Given the description of an element on the screen output the (x, y) to click on. 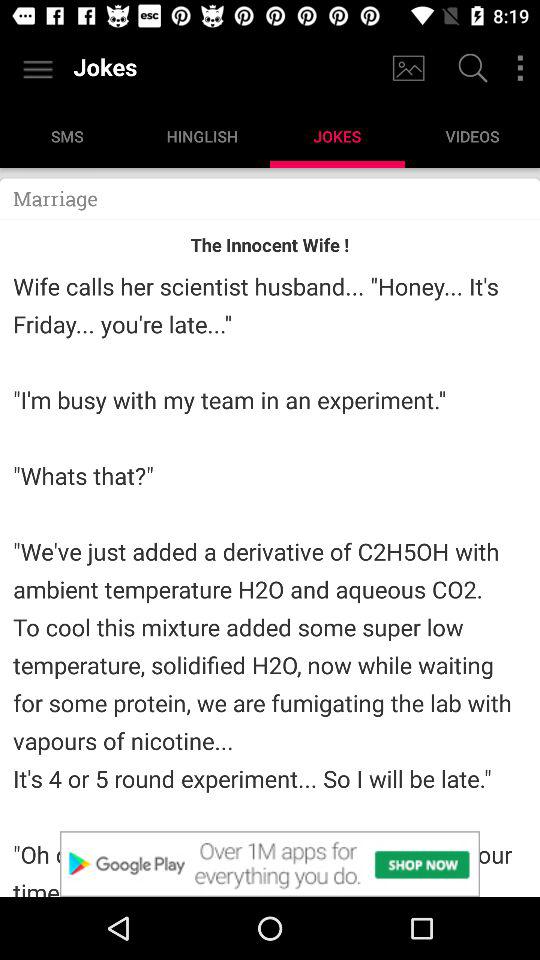
advertisement (270, 864)
